Given the description of an element on the screen output the (x, y) to click on. 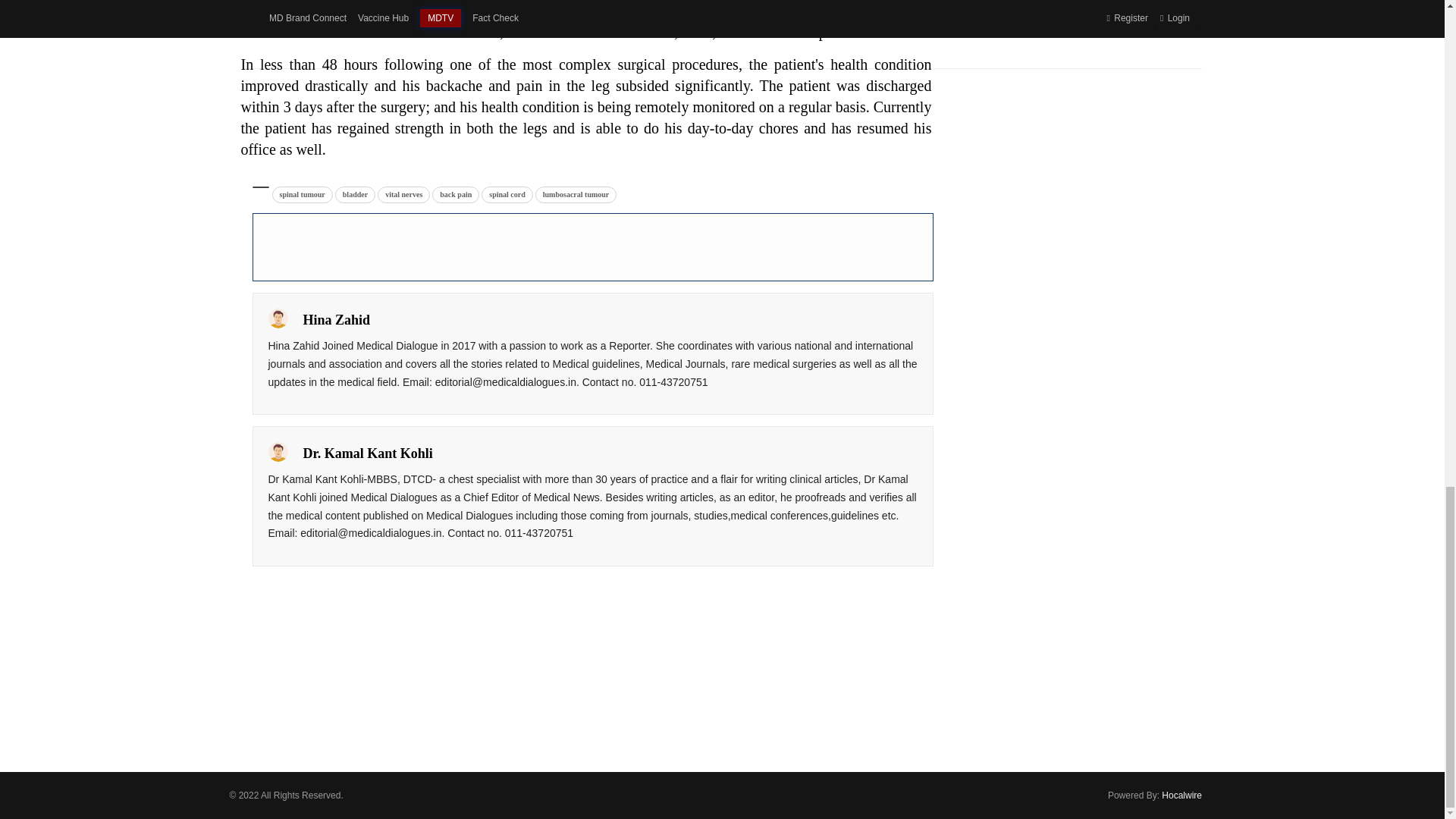
Dr. Kamal Kant Kohli (277, 451)
Hina Zahid (277, 318)
